Given the description of an element on the screen output the (x, y) to click on. 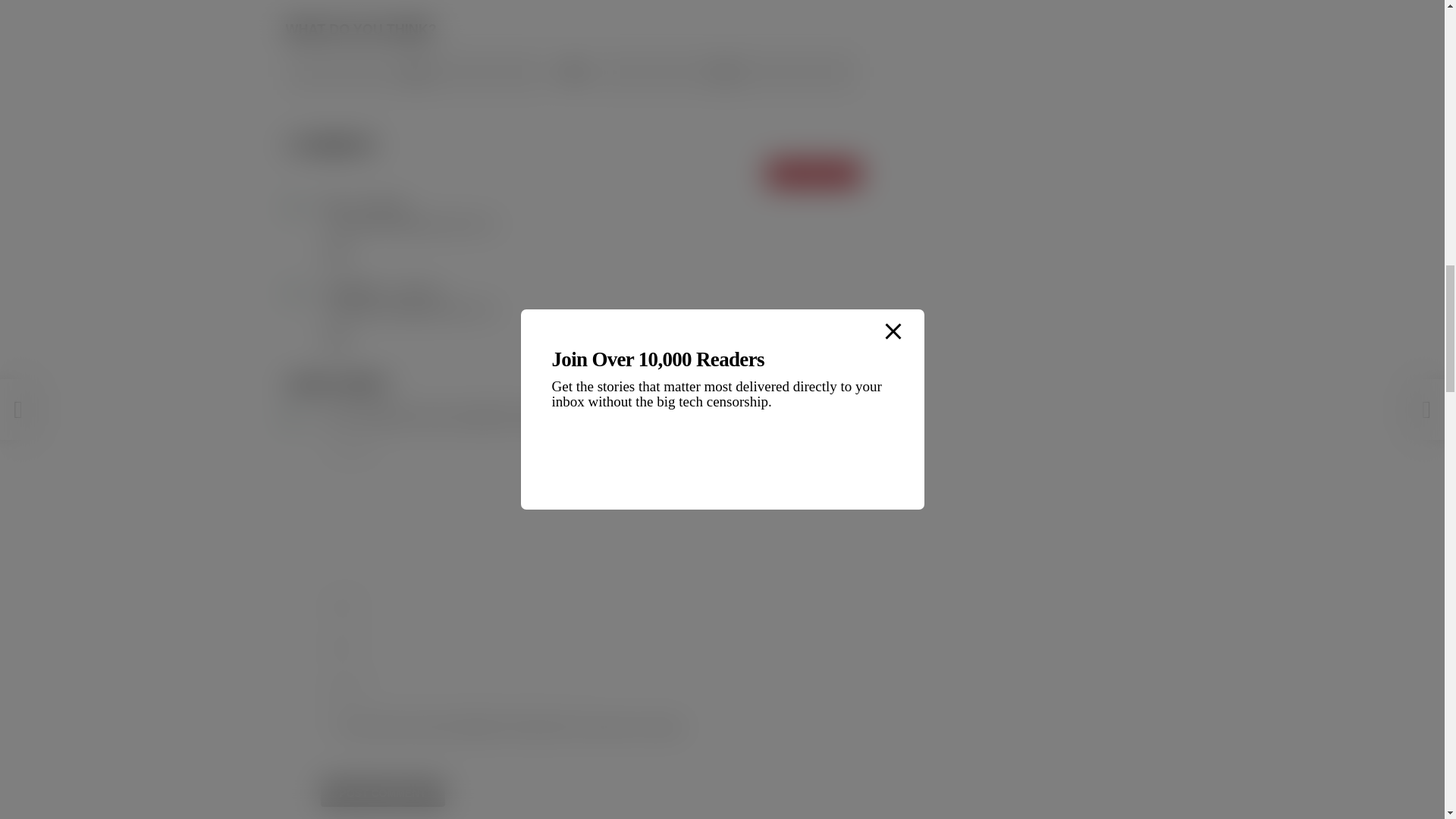
Reply (336, 337)
Post Comment (382, 792)
Downvote (725, 72)
July 14, 2022 at 4:58 pm (380, 205)
Post Comment (382, 792)
July 14, 2022 at 4:59 pm (413, 291)
2 years ago (413, 291)
LEAVE A REPLY (813, 173)
2 years ago (380, 205)
yes (325, 725)
Upvote (416, 72)
Downvote (725, 72)
Reply (336, 252)
Upvote (416, 72)
